Given the description of an element on the screen output the (x, y) to click on. 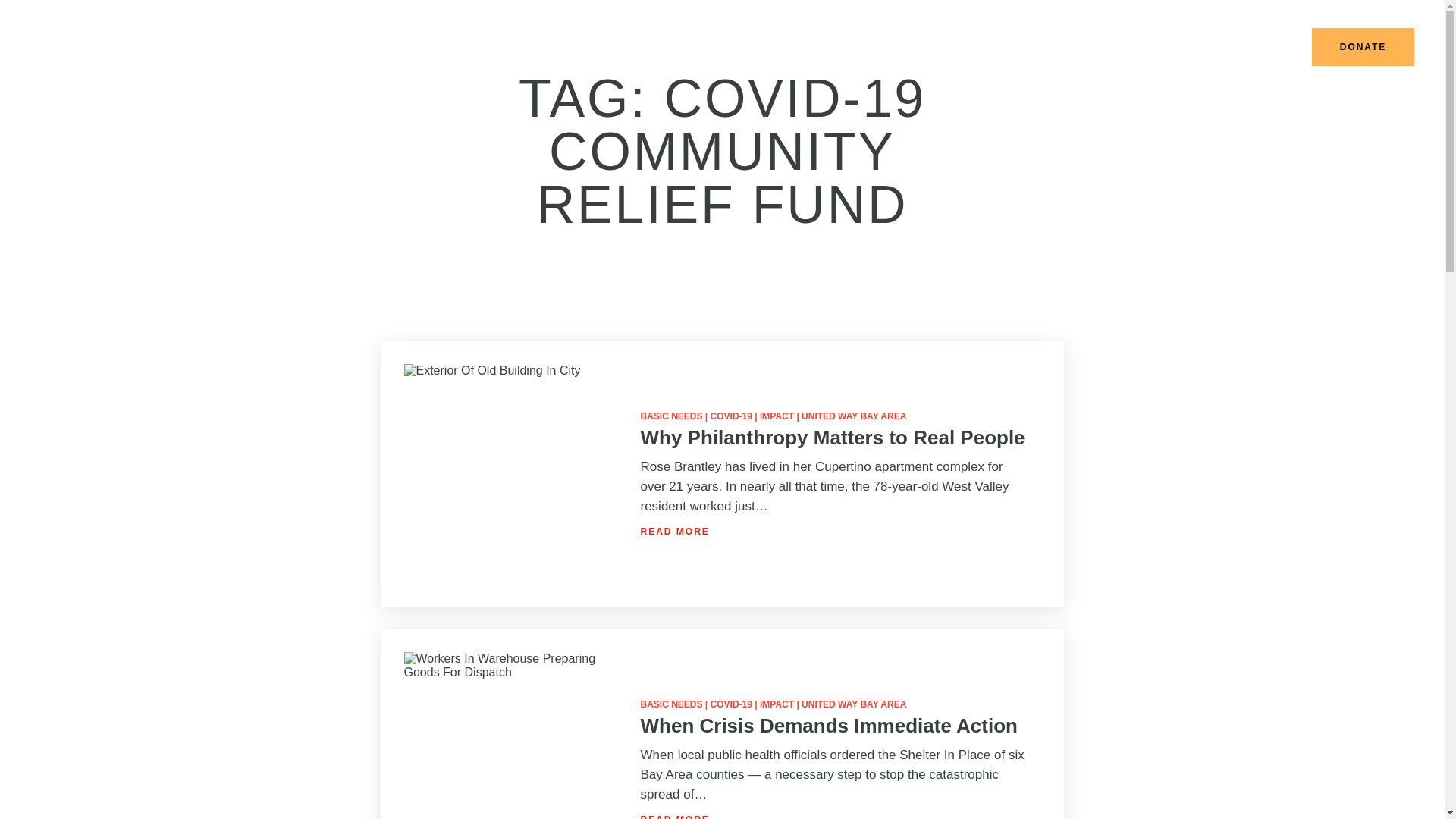
WHAT WE DO (803, 46)
GET INVOLVED (1080, 46)
united way of bay area (61, 51)
GET HELP (986, 46)
OUR IMPACT (899, 46)
WHO WE ARE (705, 46)
